Given the description of an element on the screen output the (x, y) to click on. 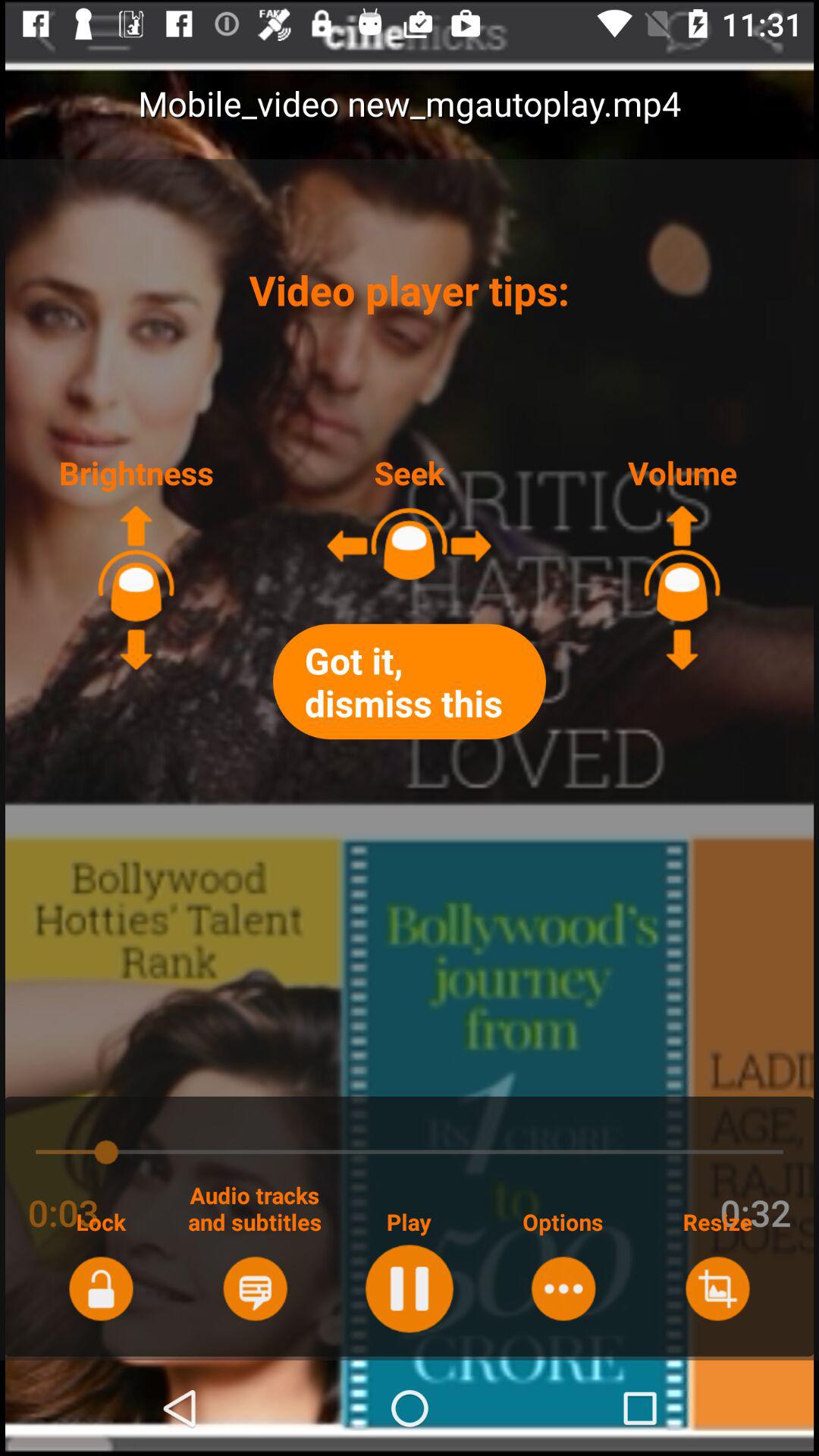
options (563, 1288)
